Given the description of an element on the screen output the (x, y) to click on. 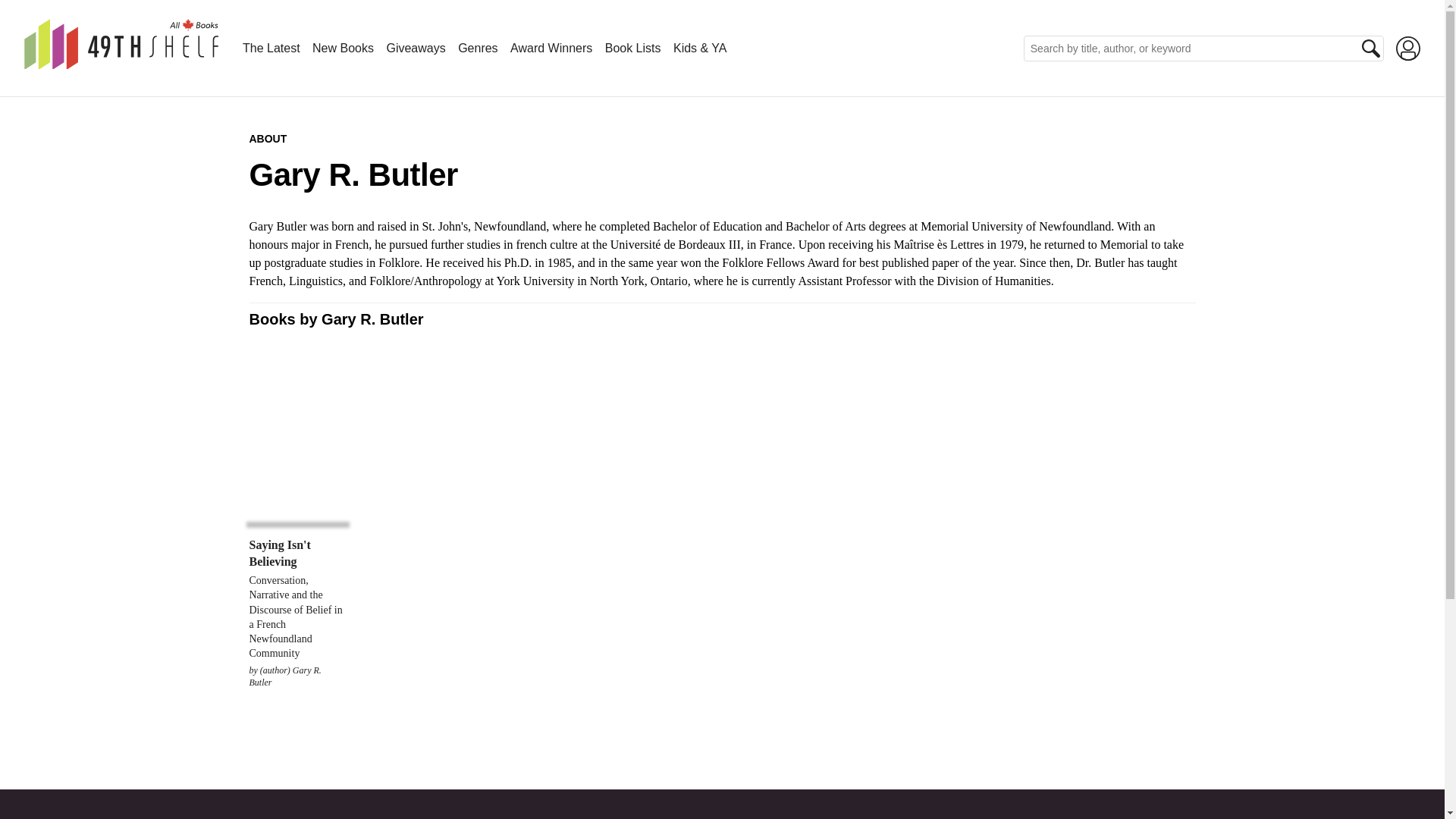
Search (1370, 48)
FACEBOOK (23, 816)
TWITTER (57, 816)
49th Shelf: All Canadian Books (121, 60)
INSTAGRAM (90, 816)
Visit us on Facebook (23, 816)
49thShelf (121, 60)
49th Shelf: All Canadian Books (121, 43)
Visit us on Twitter (57, 816)
Search (1370, 48)
